Given the description of an element on the screen output the (x, y) to click on. 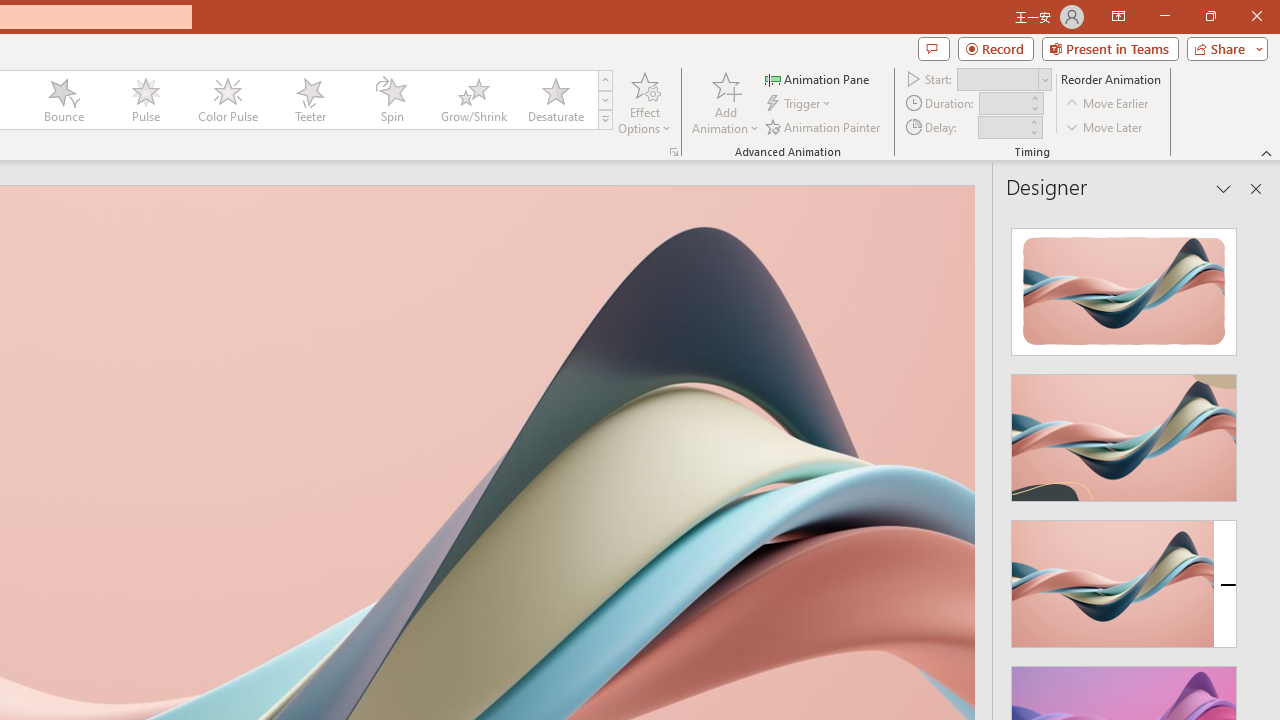
Color Pulse (227, 100)
Add Animation (725, 102)
Pulse (145, 100)
More Options... (673, 151)
Trigger (799, 103)
Desaturate (555, 100)
Animation Painter (824, 126)
Animation Styles (605, 120)
